Given the description of an element on the screen output the (x, y) to click on. 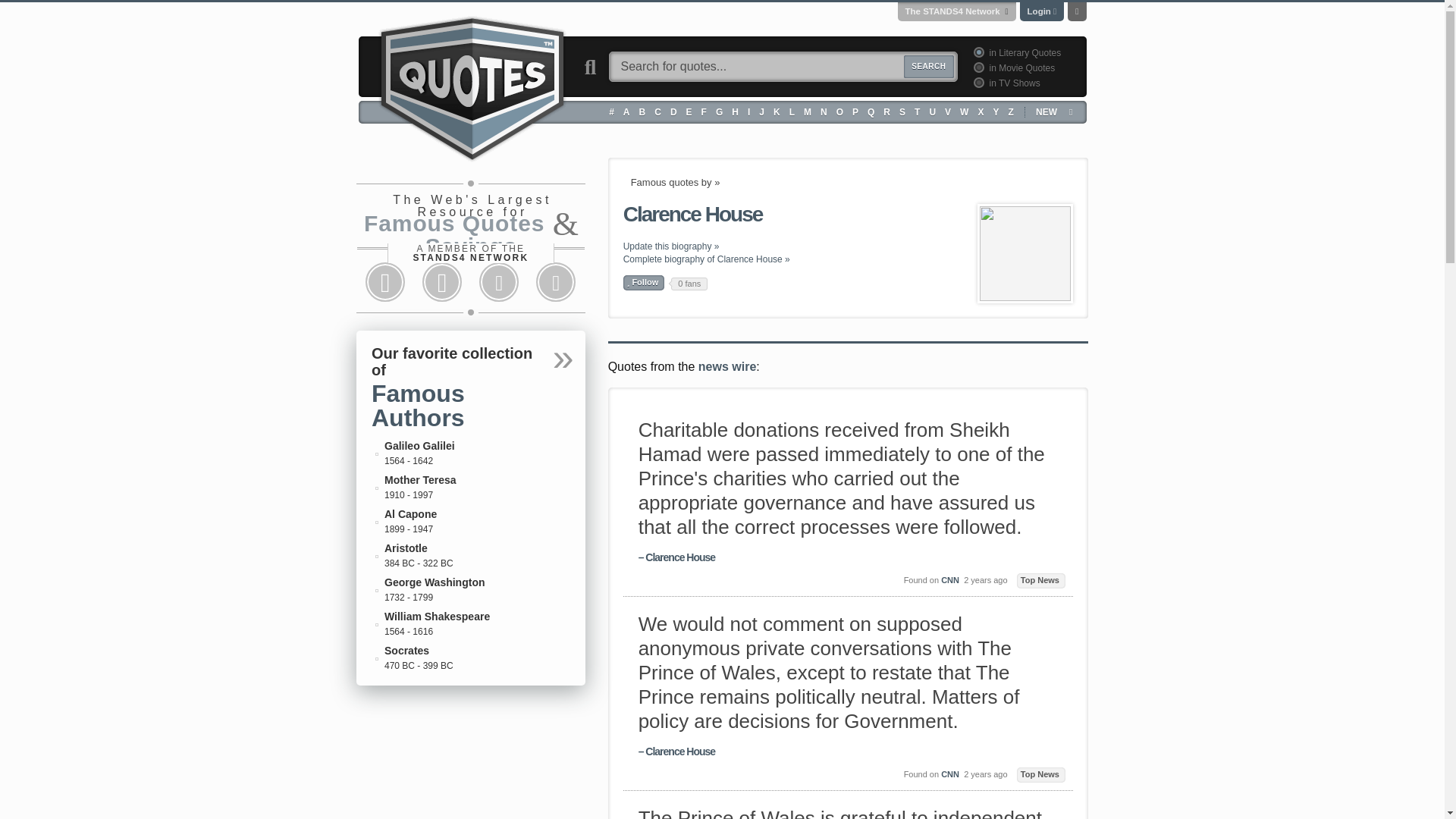
SEARCH (928, 66)
Clarence House (1024, 253)
click to add your vote (644, 282)
Login (1039, 10)
Share this page with AddToAny (556, 282)
2 (976, 67)
Share this page on Twitter (441, 282)
Quotes.net (393, 8)
1 (976, 51)
4 (976, 81)
